Given the description of an element on the screen output the (x, y) to click on. 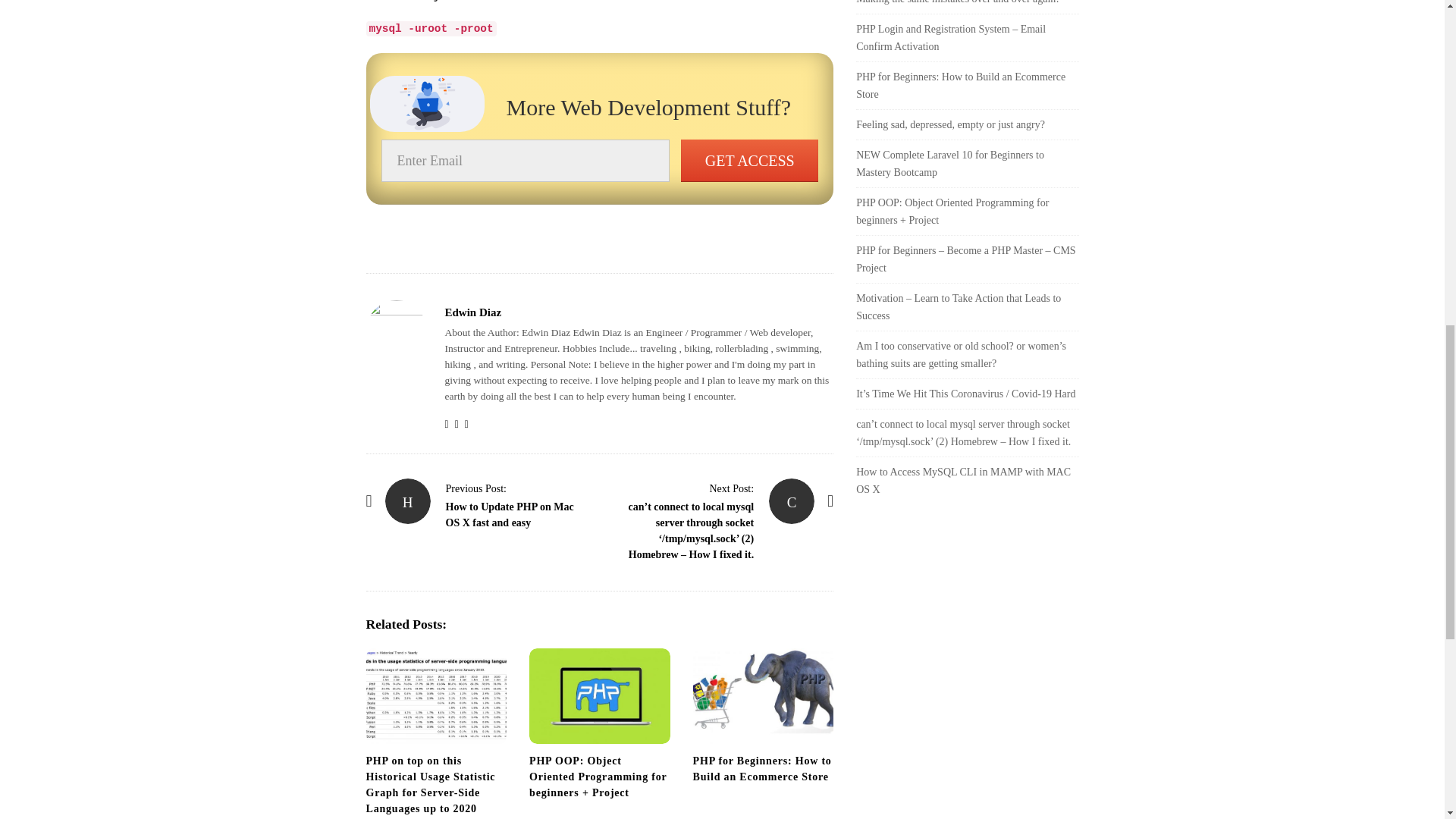
Previous Post: (475, 488)
How to Update PHP on Mac OS X fast and easy (475, 488)
Next Post: (731, 488)
How to Update PHP on Mac OS X fast and easy (407, 501)
C (790, 501)
Edwin Diaz (472, 312)
H (407, 501)
GET ACCESS (749, 160)
How to Update PHP on Mac OS X fast and easy (509, 514)
